Given the description of an element on the screen output the (x, y) to click on. 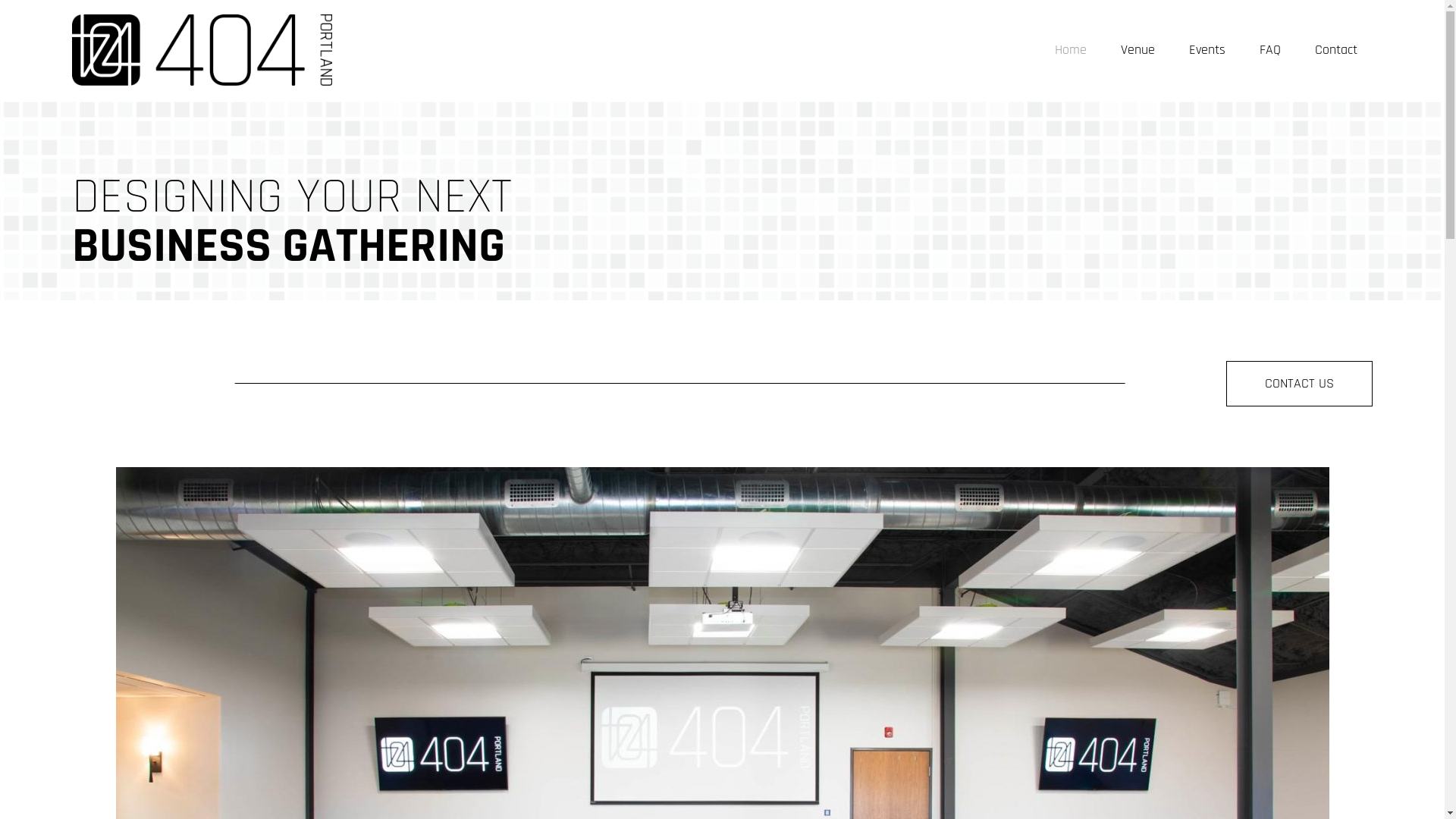
FAQ Element type: text (1269, 49)
Venue Element type: text (1137, 49)
CONTACT US Element type: text (1299, 383)
Events Element type: text (1206, 49)
Home Element type: text (1070, 49)
Contact Element type: text (1335, 49)
